Given the description of an element on the screen output the (x, y) to click on. 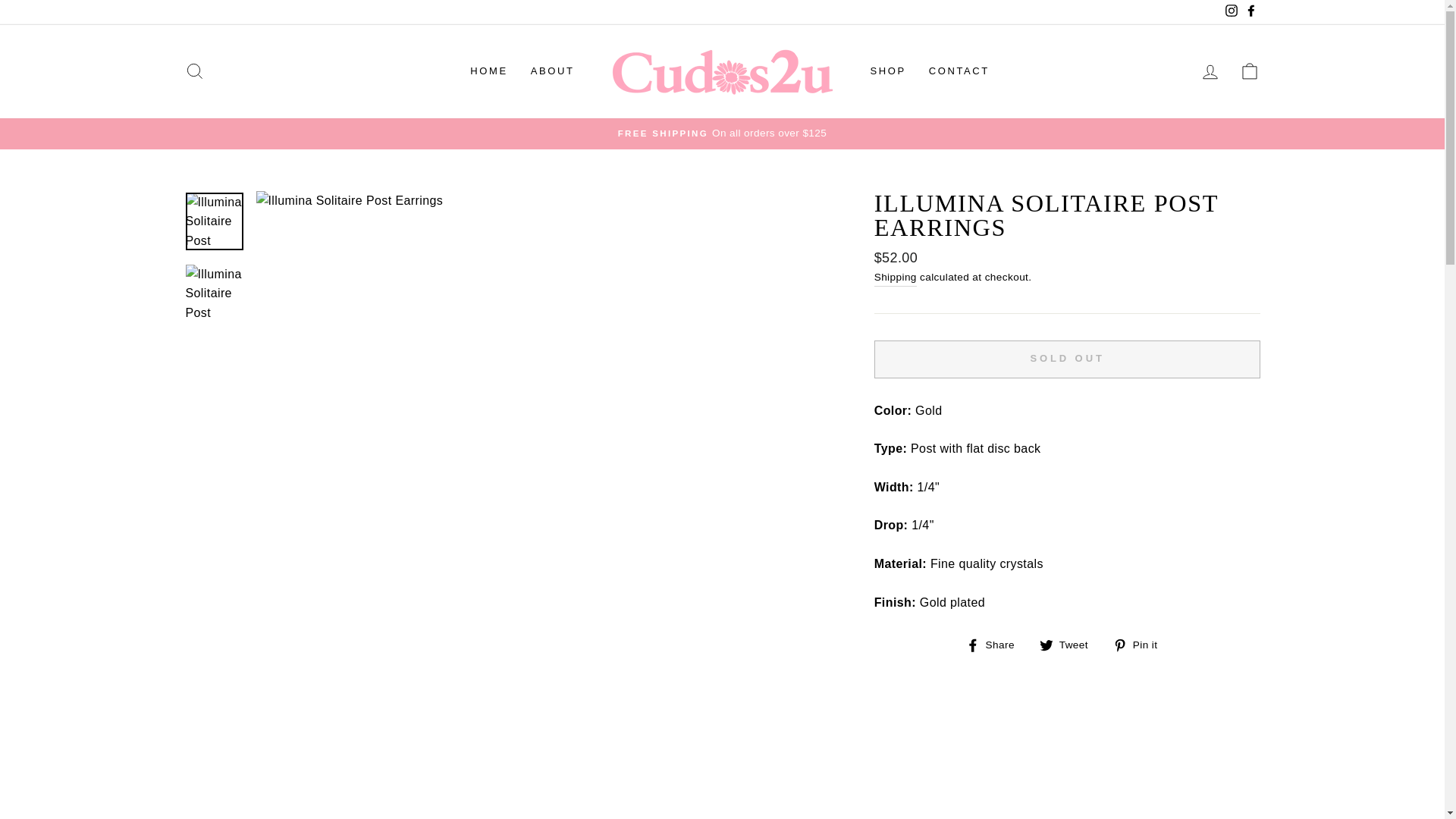
ABOUT (552, 71)
LOG IN (1210, 71)
Tweet on Twitter (1069, 644)
CART (1249, 71)
SHOP (888, 71)
CONTACT (959, 71)
HOME (488, 71)
Pin on Pinterest (1141, 644)
Share on Facebook (996, 644)
SEARCH (194, 71)
